Given the description of an element on the screen output the (x, y) to click on. 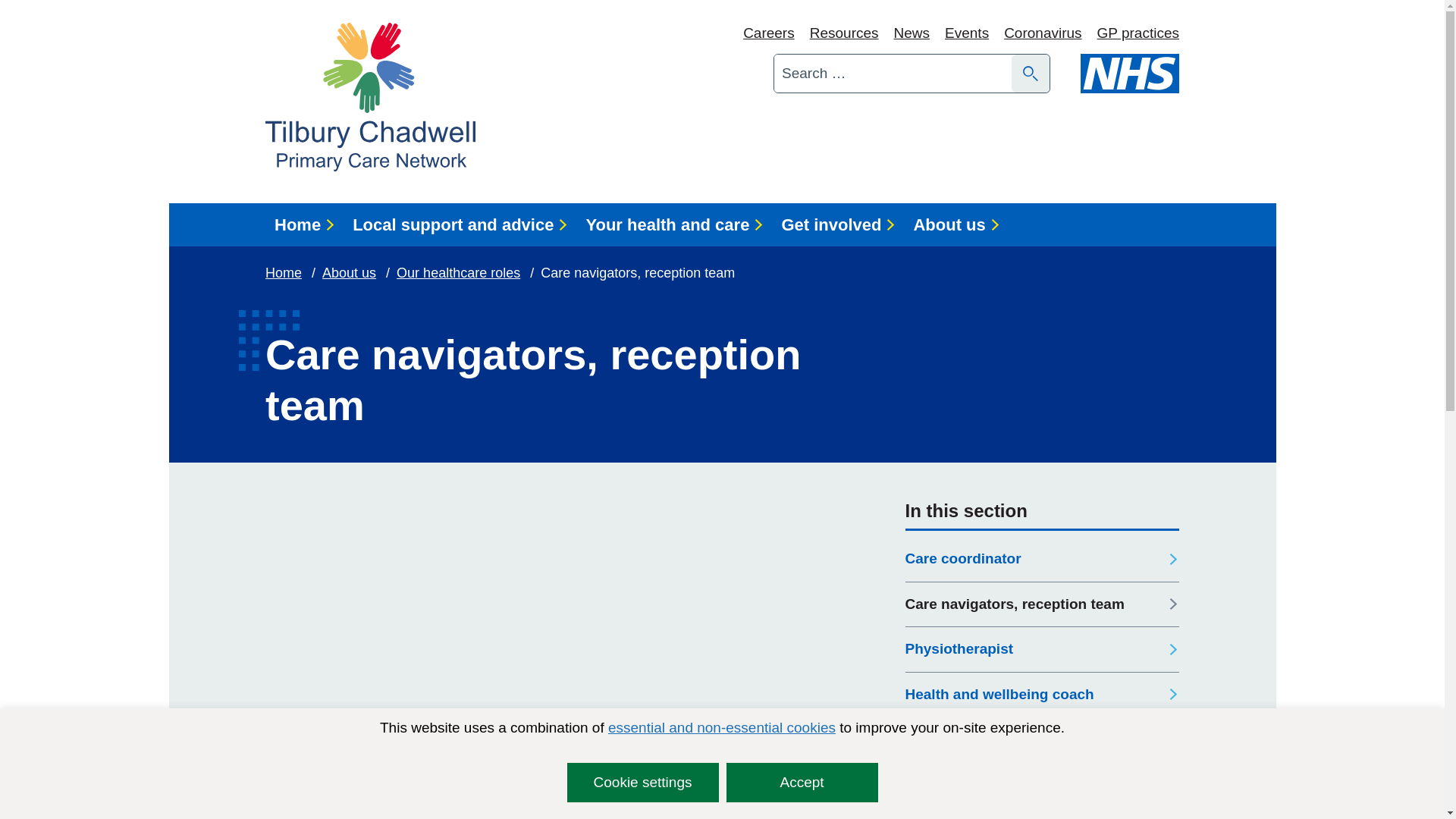
Home (303, 224)
Go to Tilbury and Chadwell Primary Care Network. (284, 272)
Home (284, 272)
Tilbury and Chadwell Primary Care Network Homepage (370, 96)
Go to Our healthcare roles. (459, 272)
Careers (768, 33)
About us (349, 272)
Resources (844, 33)
Coronavirus (1042, 33)
About us (955, 224)
